Given the description of an element on the screen output the (x, y) to click on. 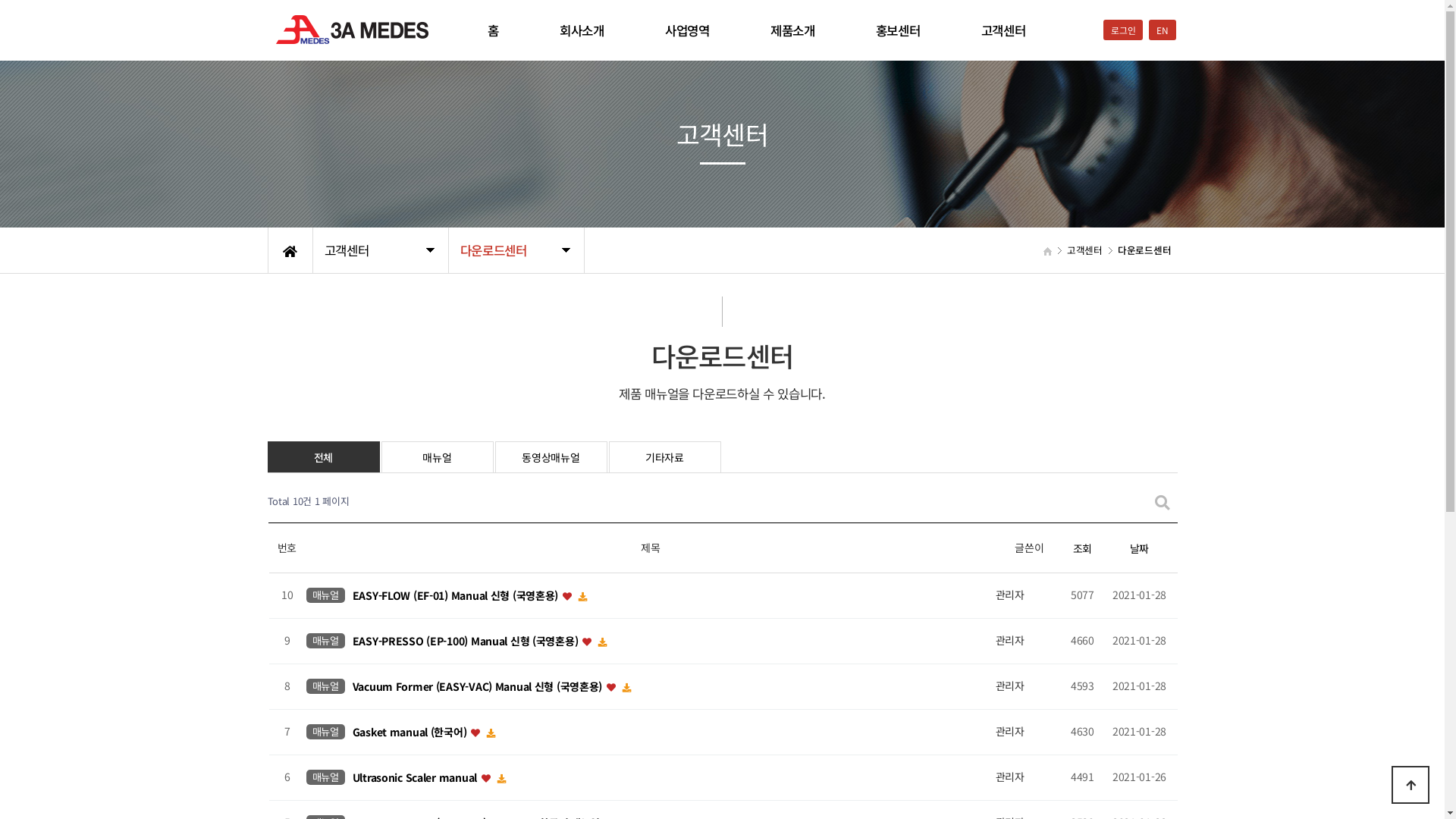
EN Element type: text (1161, 29)
Ultrasonic Scaler manual Element type: text (416, 776)
